Given the description of an element on the screen output the (x, y) to click on. 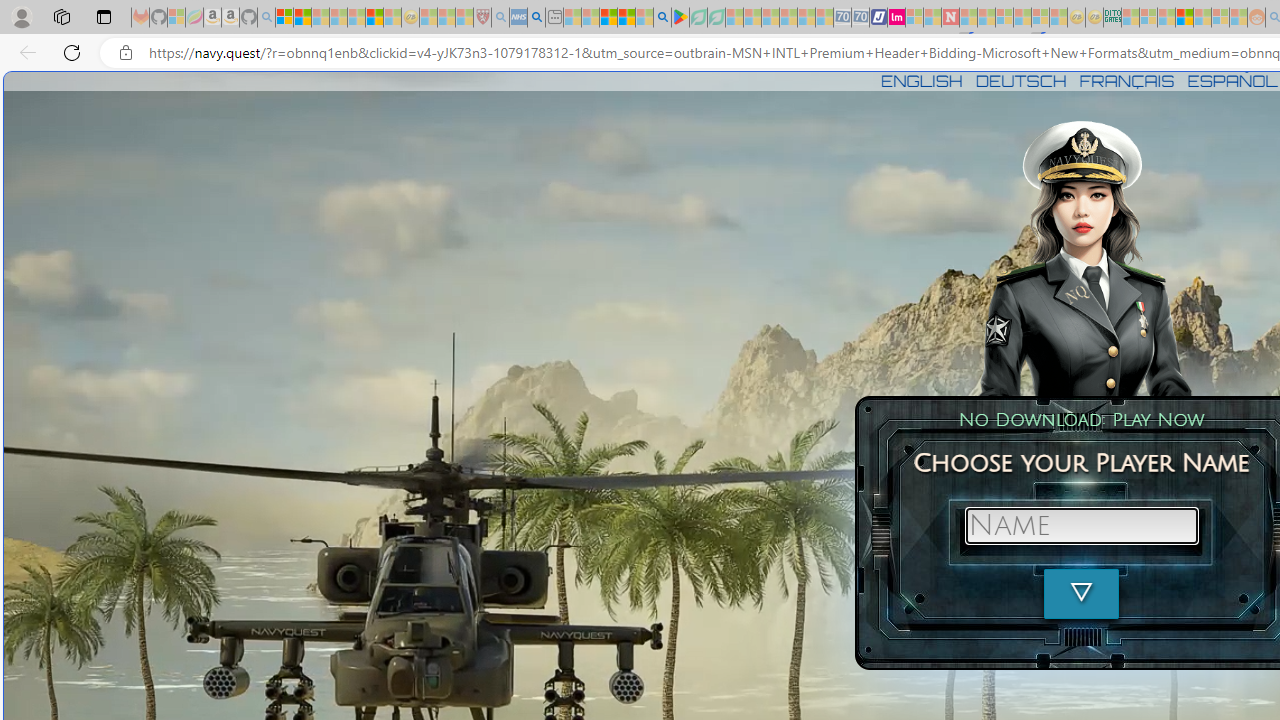
Jobs - lastminute.com Investor Portal (896, 17)
Expert Portfolios (1184, 17)
